Given the description of an element on the screen output the (x, y) to click on. 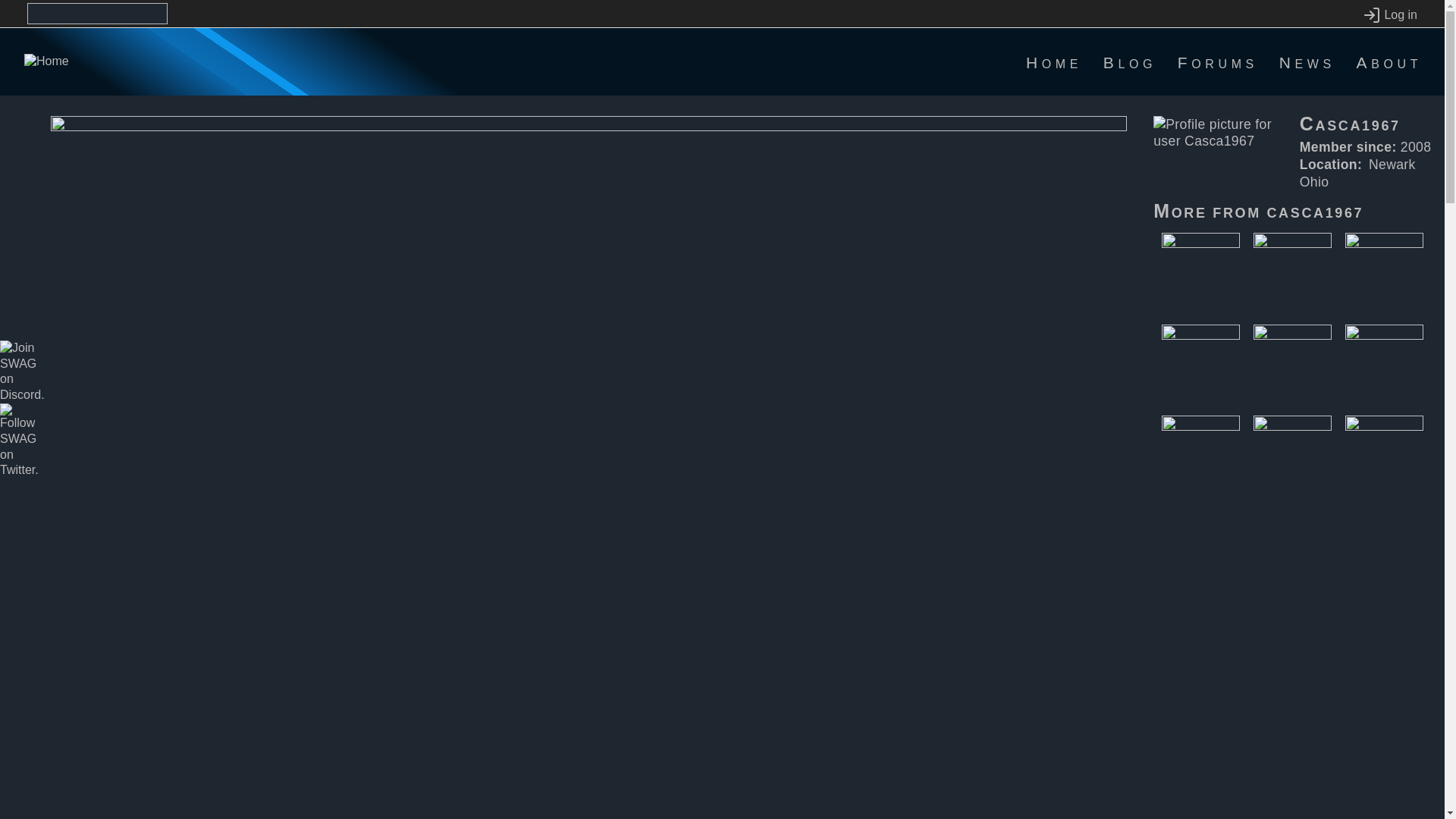
View user profile. (1314, 210)
About (1389, 62)
Enter the terms you wish to search for. (97, 13)
Blog (1129, 62)
Home (1053, 62)
Log in (1389, 14)
Forums (1217, 62)
News (1307, 62)
